Given the description of an element on the screen output the (x, y) to click on. 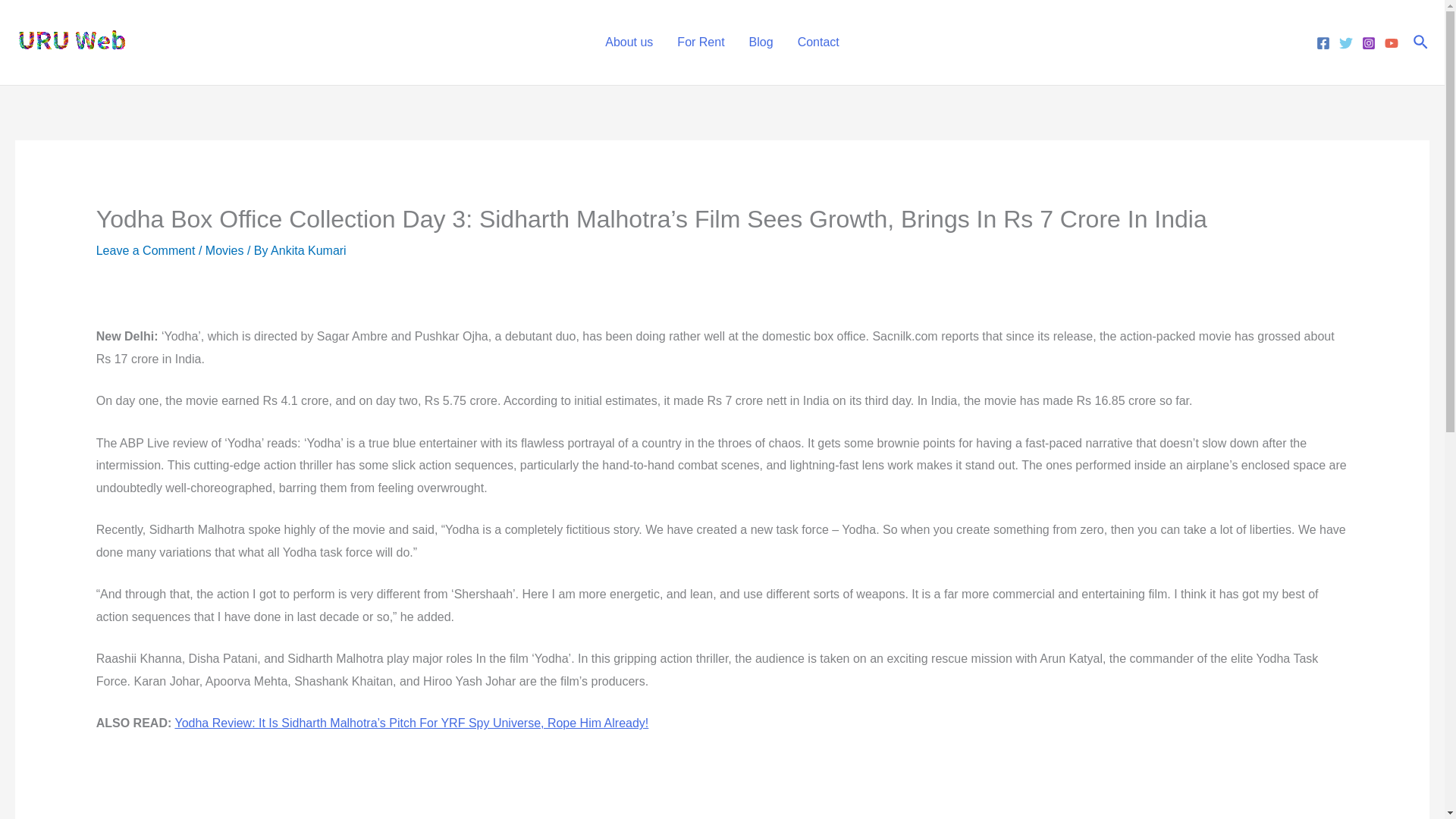
View all posts by Ankita Kumari (308, 250)
For Rent (700, 42)
About us (628, 42)
Contact (818, 42)
